Given the description of an element on the screen output the (x, y) to click on. 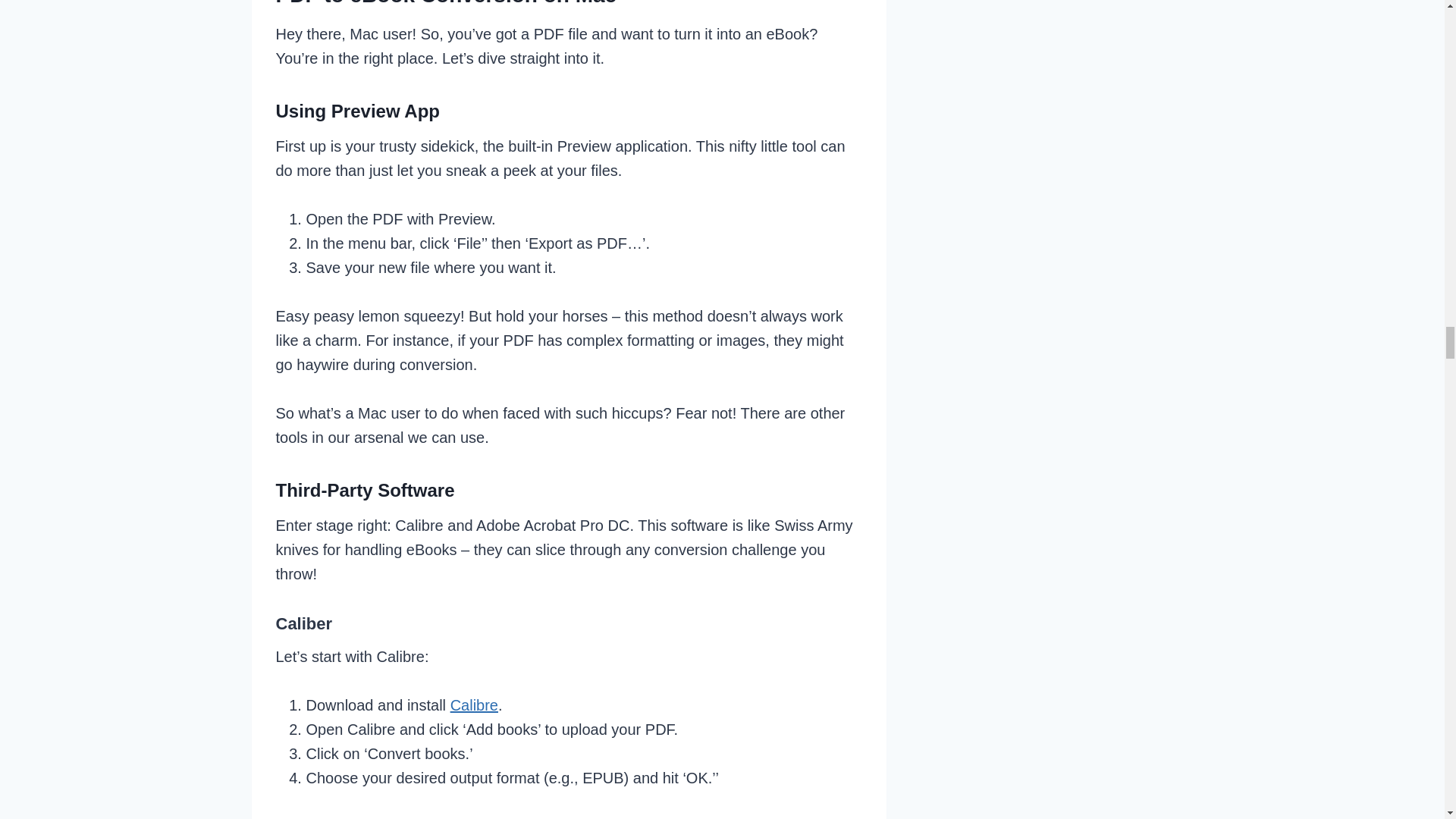
Calibre (473, 704)
